Given the description of an element on the screen output the (x, y) to click on. 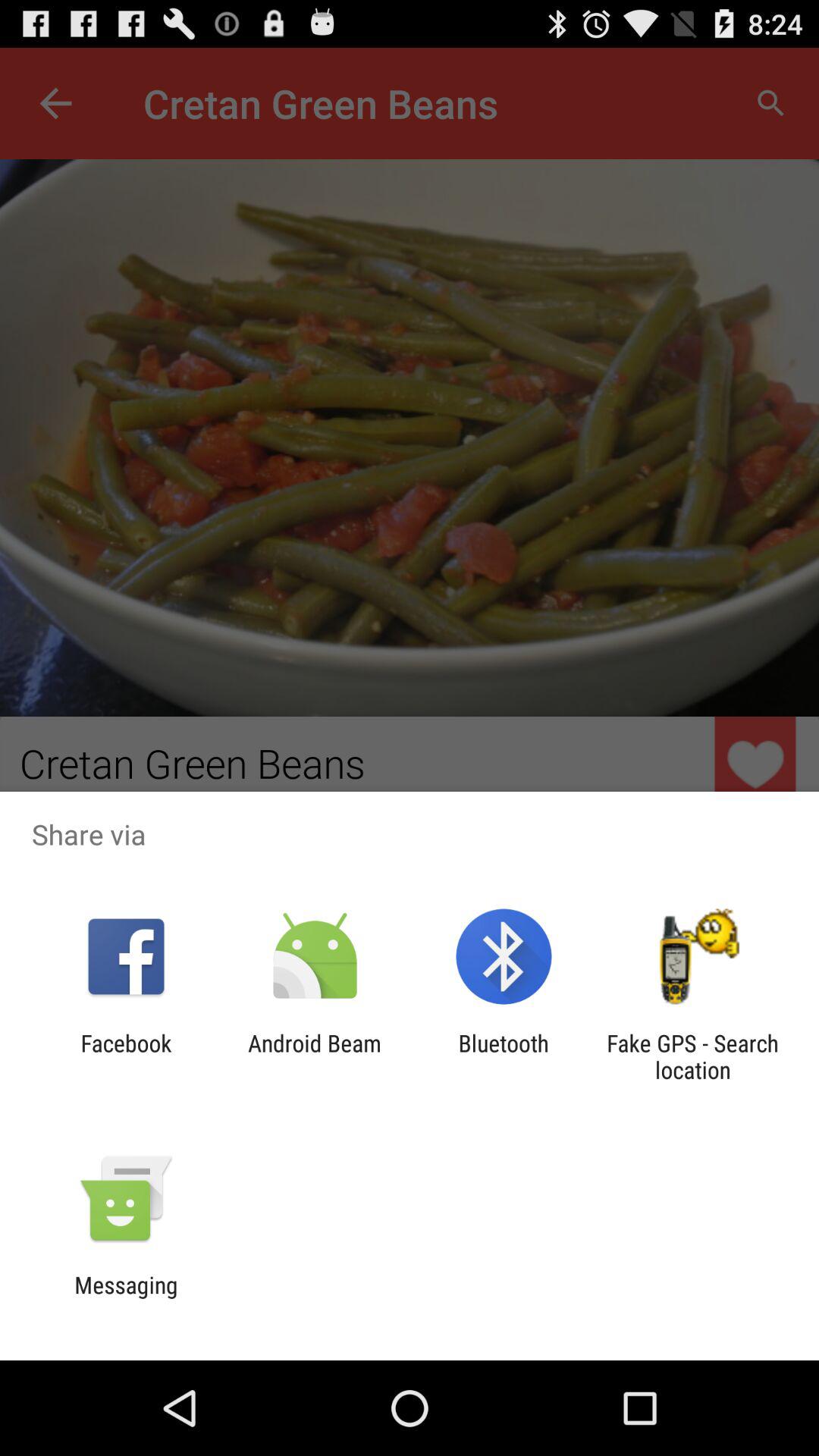
tap item to the left of the fake gps search item (503, 1056)
